Given the description of an element on the screen output the (x, y) to click on. 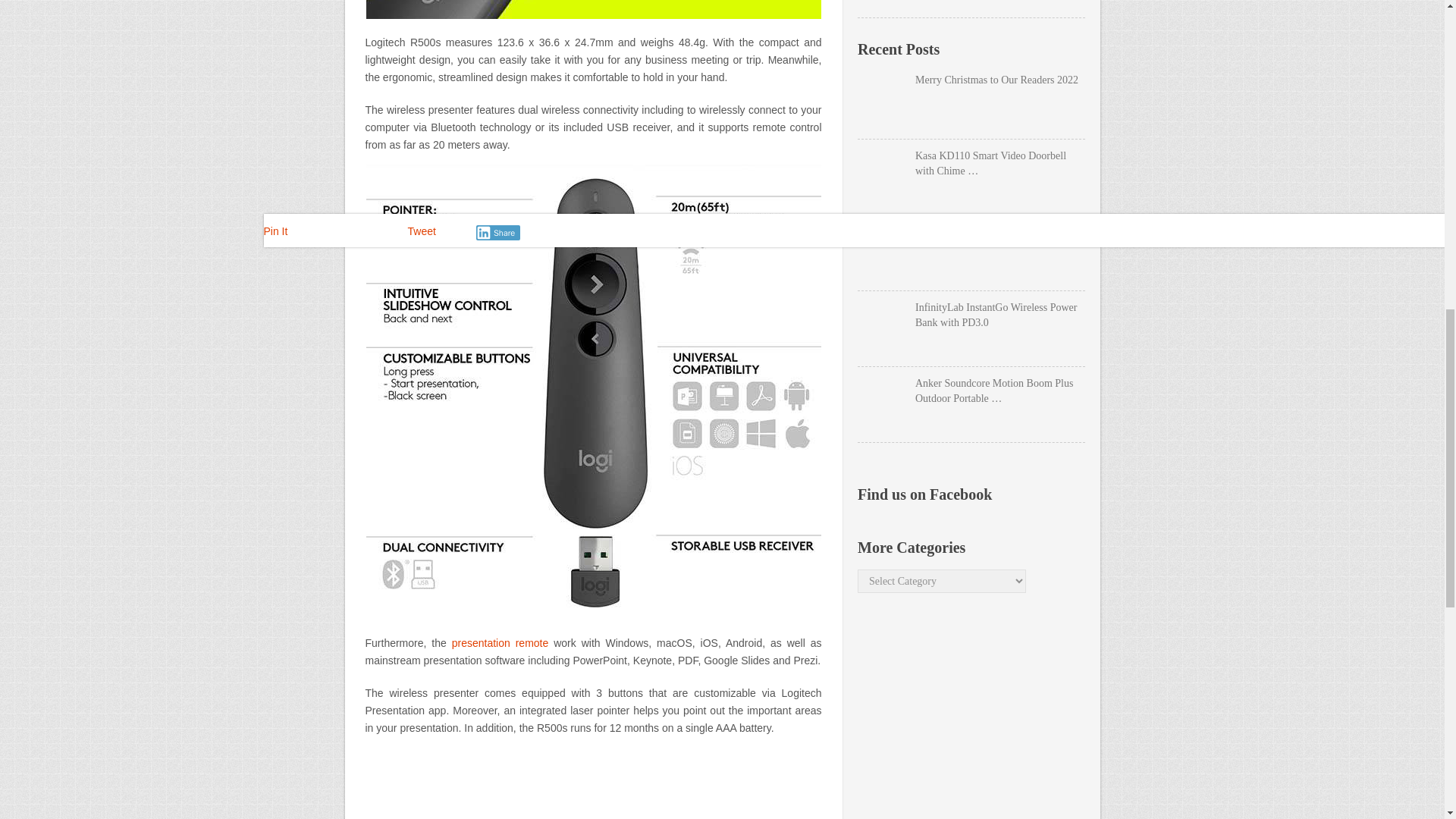
YouTube video player (593, 785)
presentation remote (499, 643)
